Given the description of an element on the screen output the (x, y) to click on. 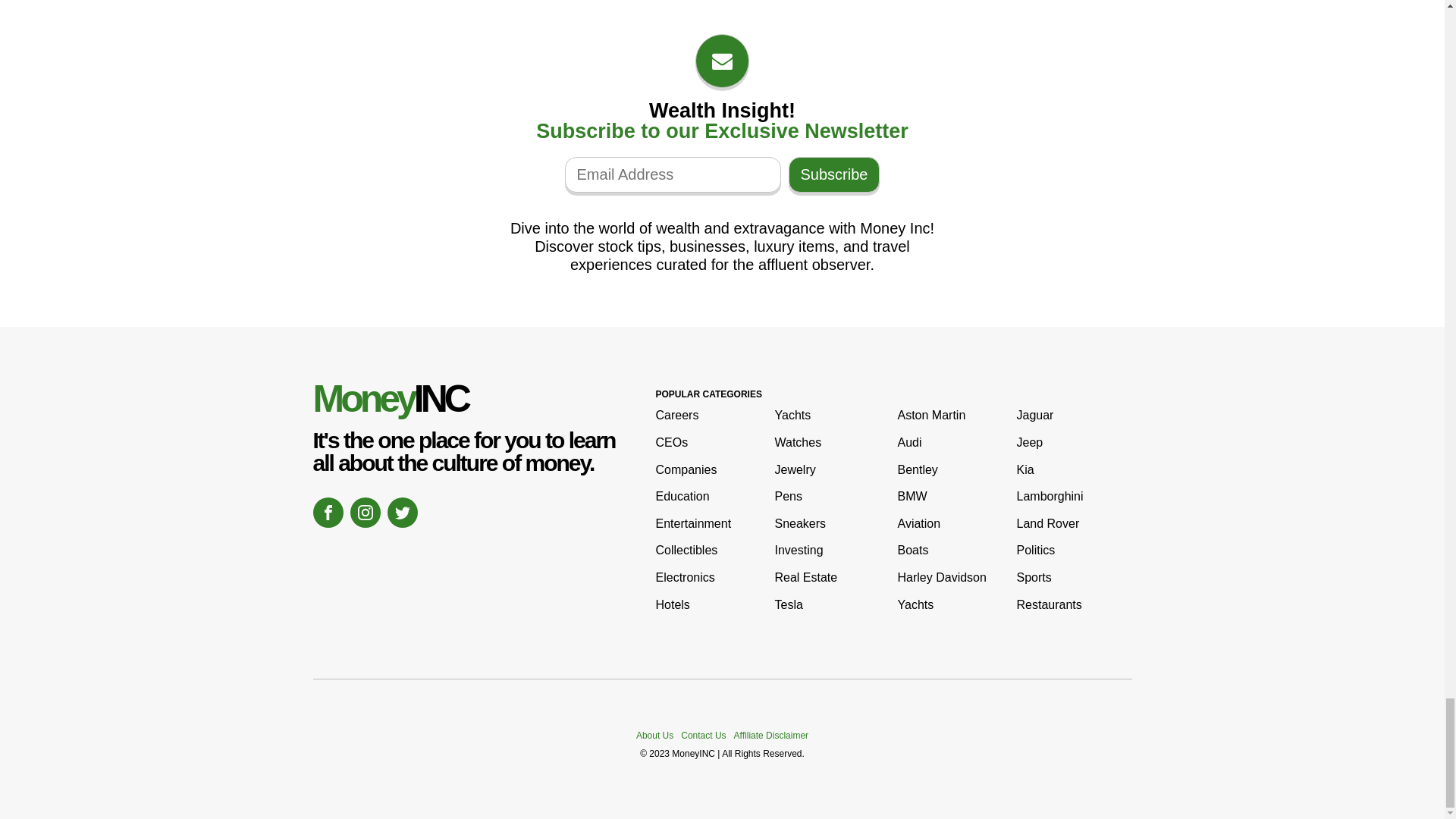
Subscribe (834, 174)
